Given the description of an element on the screen output the (x, y) to click on. 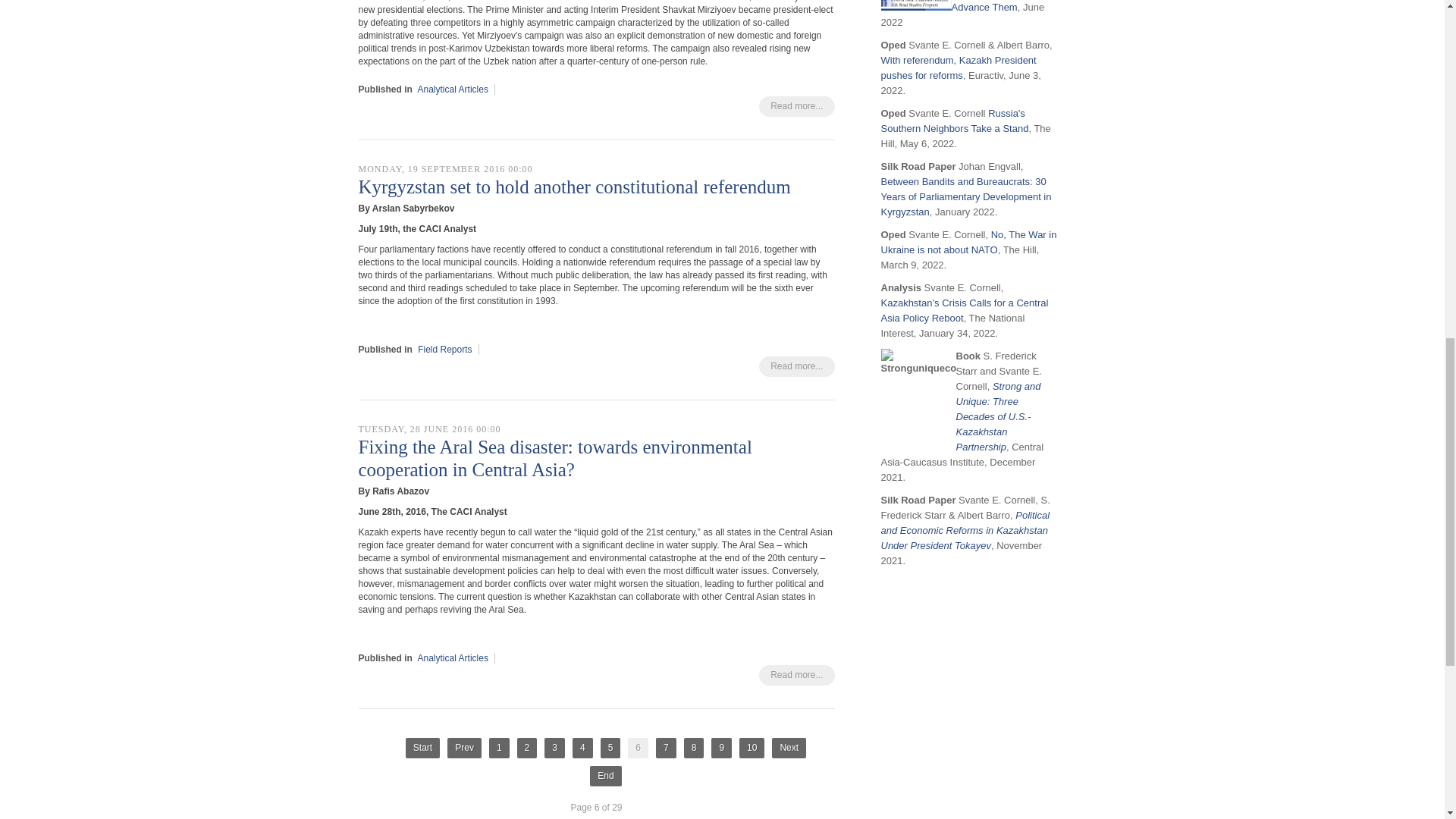
1 (499, 747)
8 (694, 747)
Start (422, 747)
6 (637, 747)
2 (526, 747)
Analytical Articles (452, 657)
Read more... (796, 675)
2 (526, 747)
Next (788, 747)
Read more... (796, 106)
3 (554, 747)
Start (422, 747)
3 (554, 747)
Field Reports (444, 348)
1 (499, 747)
